Given the description of an element on the screen output the (x, y) to click on. 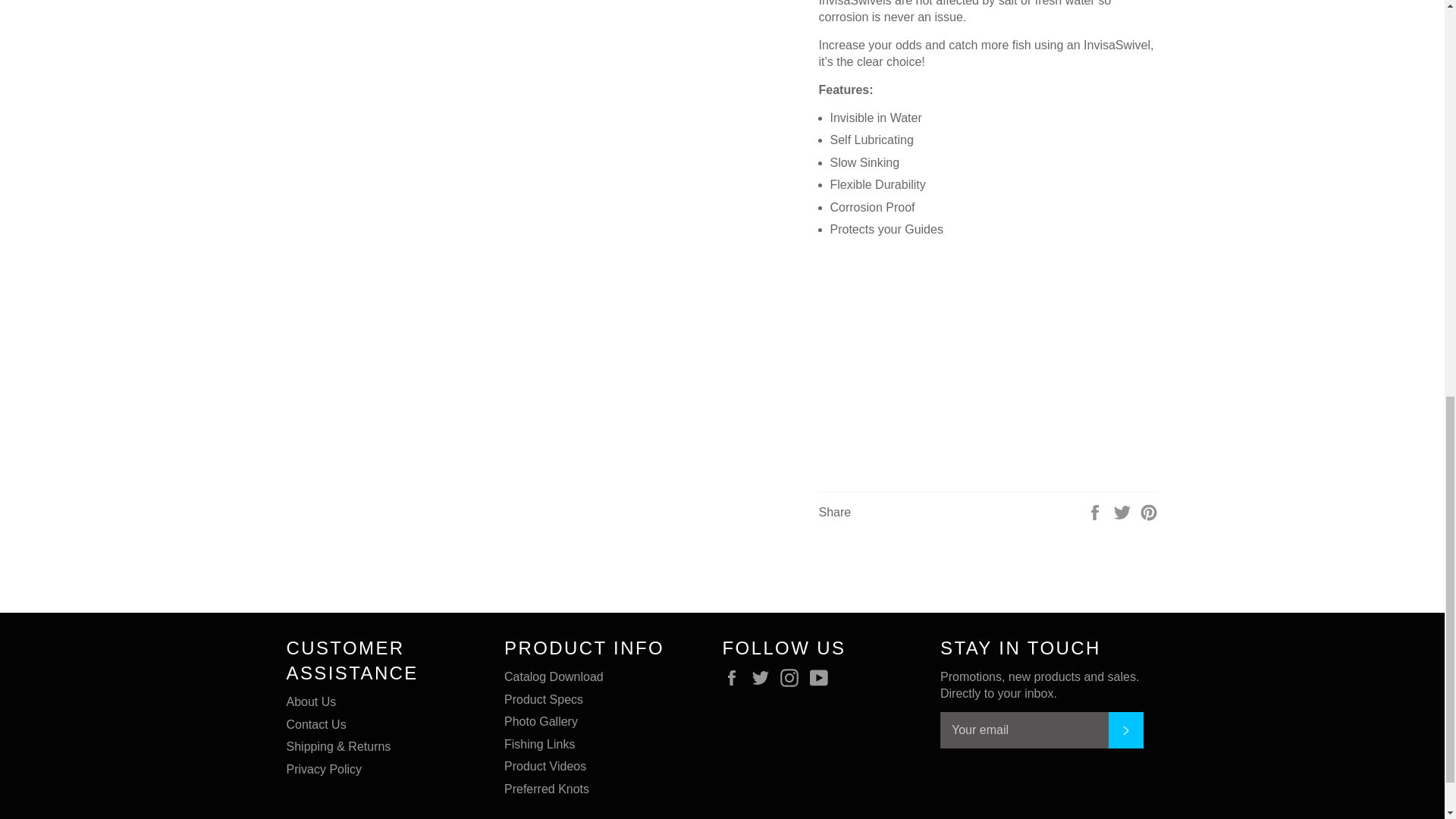
Pin on Pinterest (1148, 511)
Tweet on Twitter (1123, 511)
Aquateko on Twitter (764, 678)
Aquateko on Instagram (793, 678)
Aquateko on Facebook (735, 678)
Aquateko on YouTube (822, 678)
Share on Facebook (1096, 511)
